Given the description of an element on the screen output the (x, y) to click on. 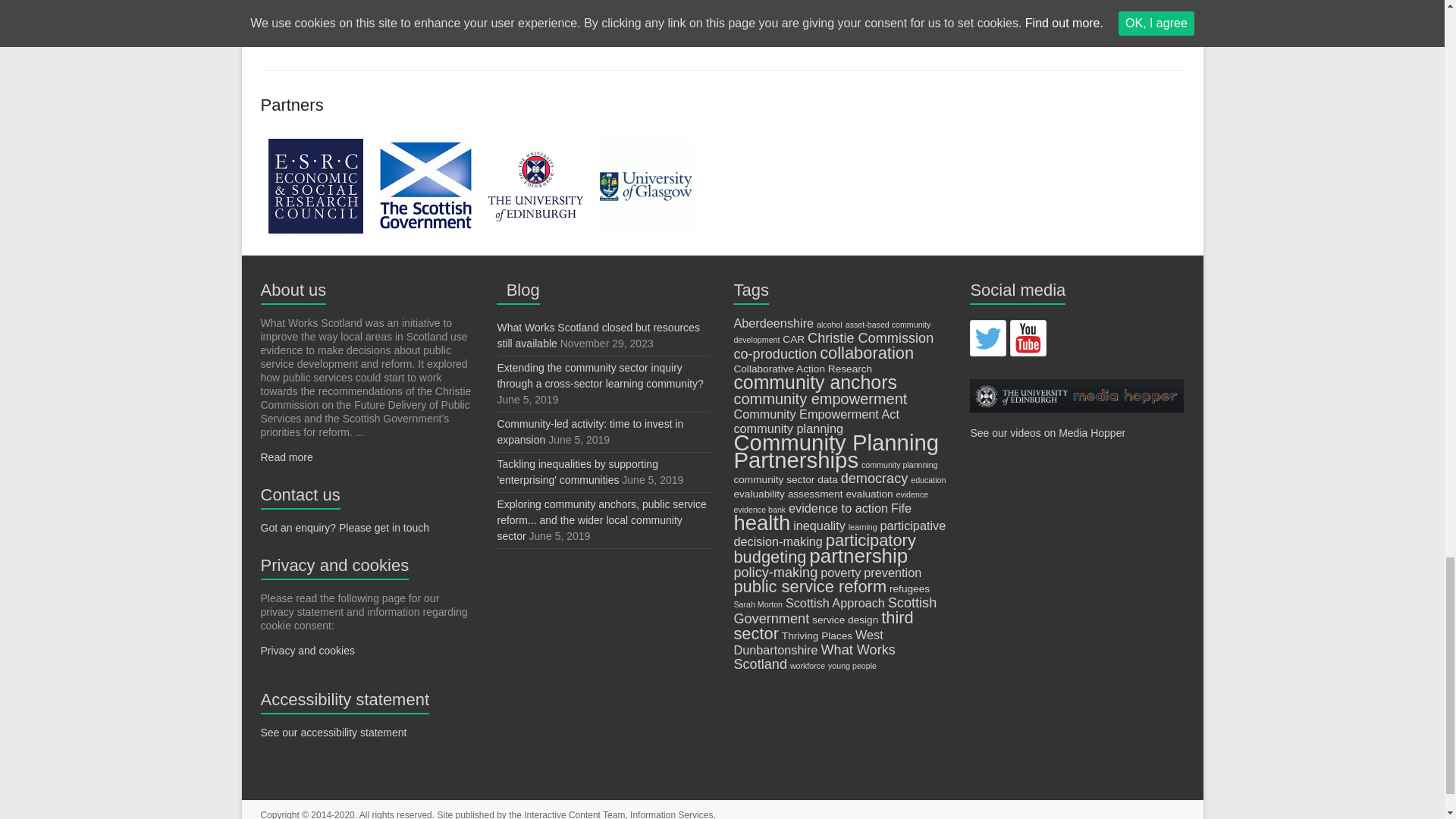
Share by email (479, 0)
Share on Facebook (278, 0)
Share on Twitter (317, 0)
About us (293, 289)
Share on Reddit (398, 0)
Follow us on Twitter (987, 338)
Share on tumblr (440, 0)
